Given the description of an element on the screen output the (x, y) to click on. 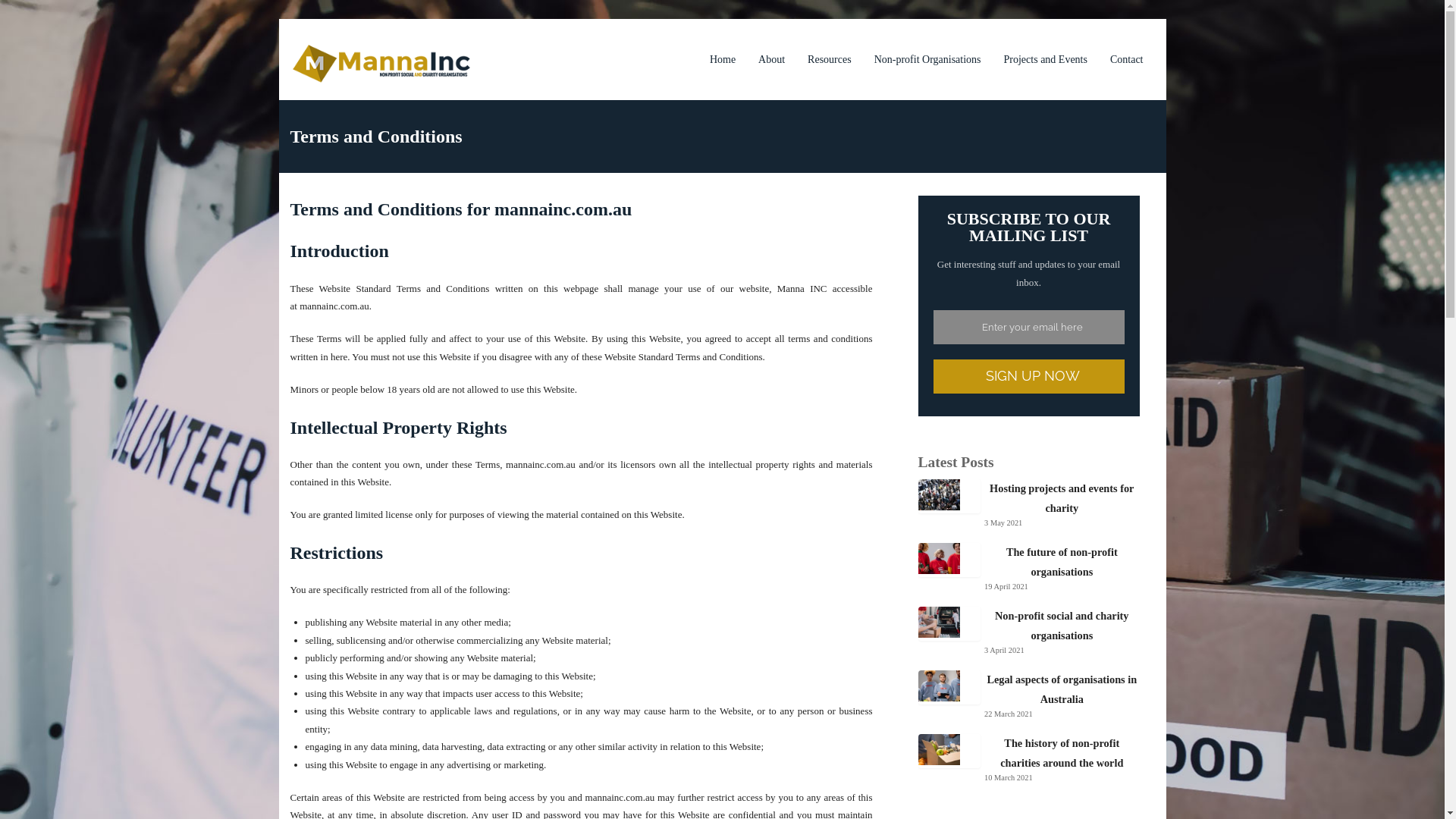
Projects and Events Element type: text (1045, 59)
The history of non-profit charities around the world Element type: text (1061, 753)
About Element type: text (771, 59)
Contact Element type: text (1126, 59)
Home Element type: text (722, 59)
Non-profit social and charity organisations Element type: text (1061, 625)
Non-profit Organisations Element type: text (927, 59)
Resources Element type: text (829, 59)
Legal aspects of organisations in Australia Element type: text (1061, 689)
Hosting projects and events for charity Element type: text (1061, 498)
The future of non-profit organisations Element type: text (1061, 561)
Sign Up Now Element type: text (1027, 376)
